Given the description of an element on the screen output the (x, y) to click on. 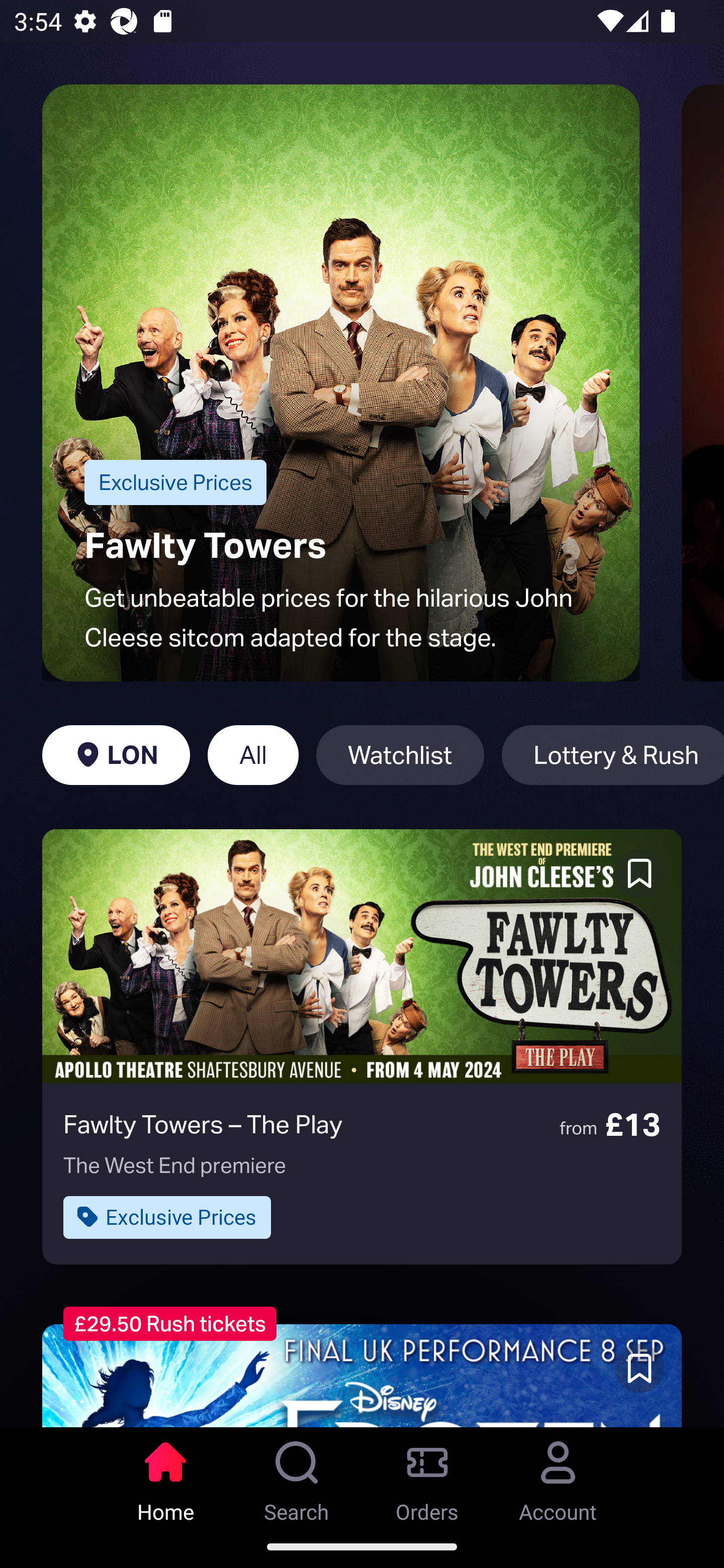
LON (115, 754)
All (252, 754)
Watchlist (400, 754)
Lottery & Rush (612, 754)
Search (296, 1475)
Orders (427, 1475)
Account (558, 1475)
